Given the description of an element on the screen output the (x, y) to click on. 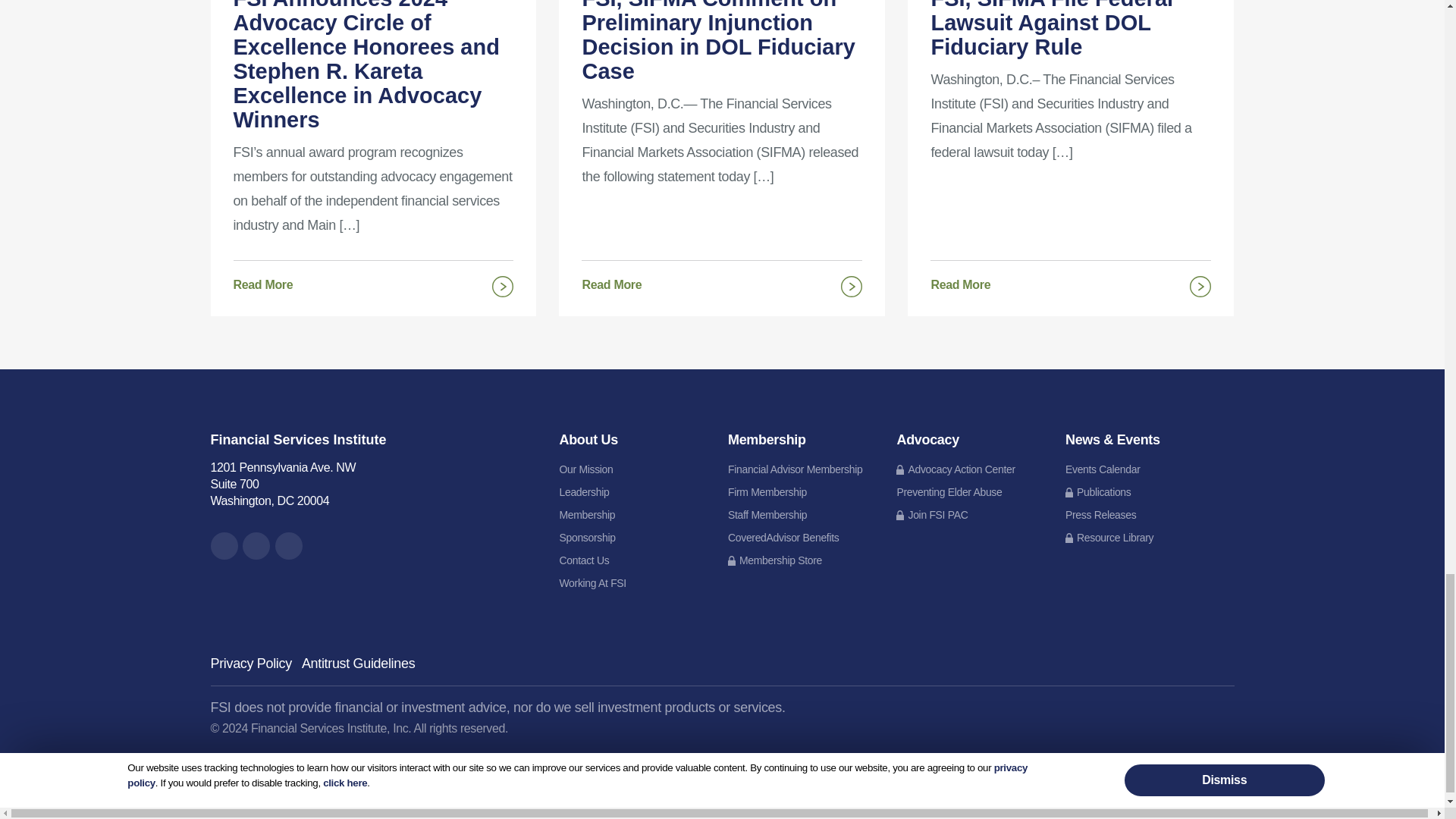
Read Article (1070, 282)
Read Article (720, 282)
Read Article (372, 282)
Read Article (372, 130)
Read Article (720, 117)
Read Article (1070, 111)
